Given the description of an element on the screen output the (x, y) to click on. 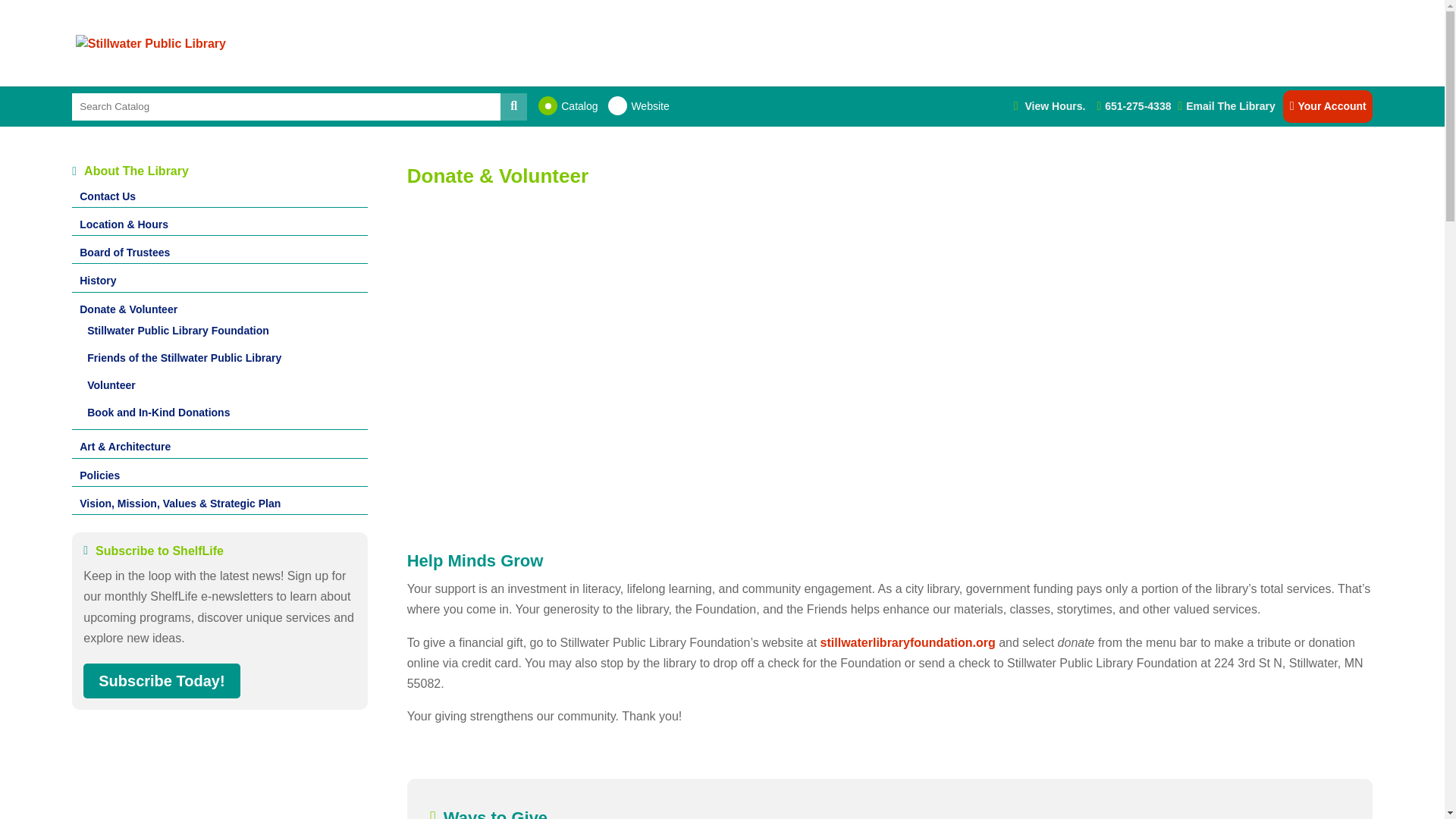
Search For: (285, 106)
